Given the description of an element on the screen output the (x, y) to click on. 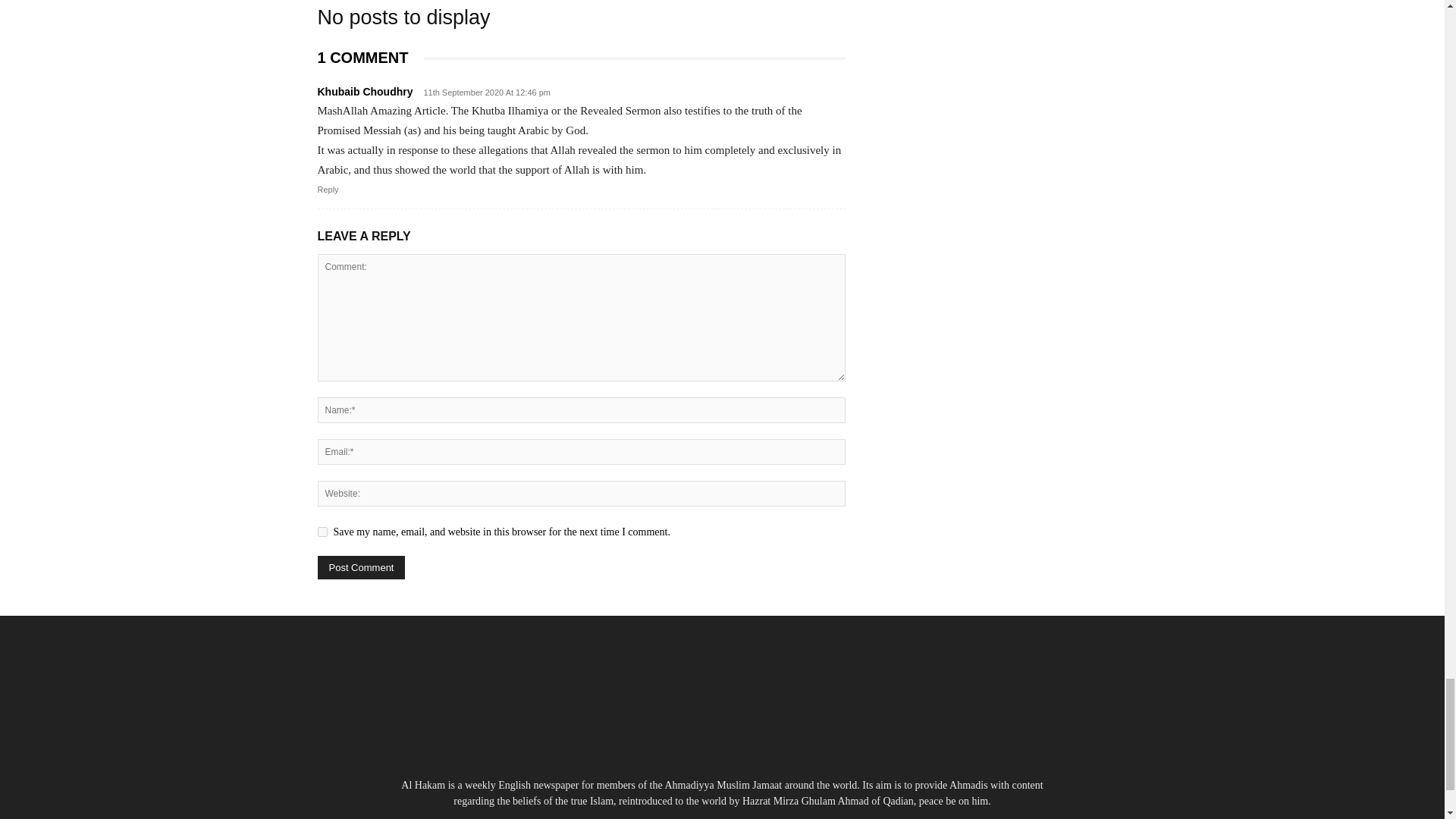
Post Comment (360, 567)
yes (321, 532)
